Given the description of an element on the screen output the (x, y) to click on. 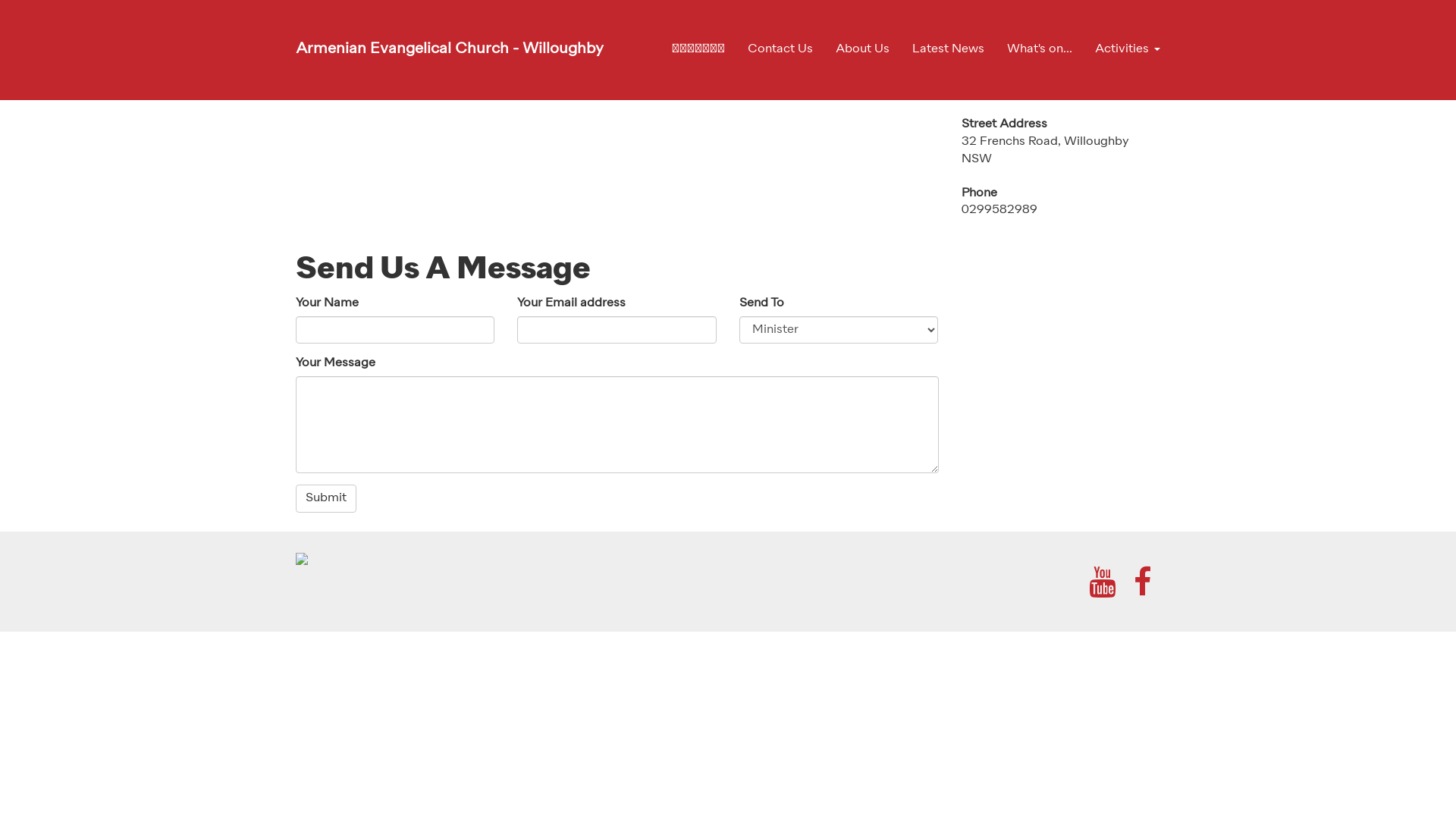
Latest News Element type: text (947, 49)
What's on... Element type: text (1039, 49)
Activities Element type: text (1121, 49)
Armenian Evangelical Church - Willoughby Element type: text (449, 49)
About Us Element type: text (862, 49)
Contact Us Element type: text (780, 49)
Submit Element type: text (325, 498)
